Given the description of an element on the screen output the (x, y) to click on. 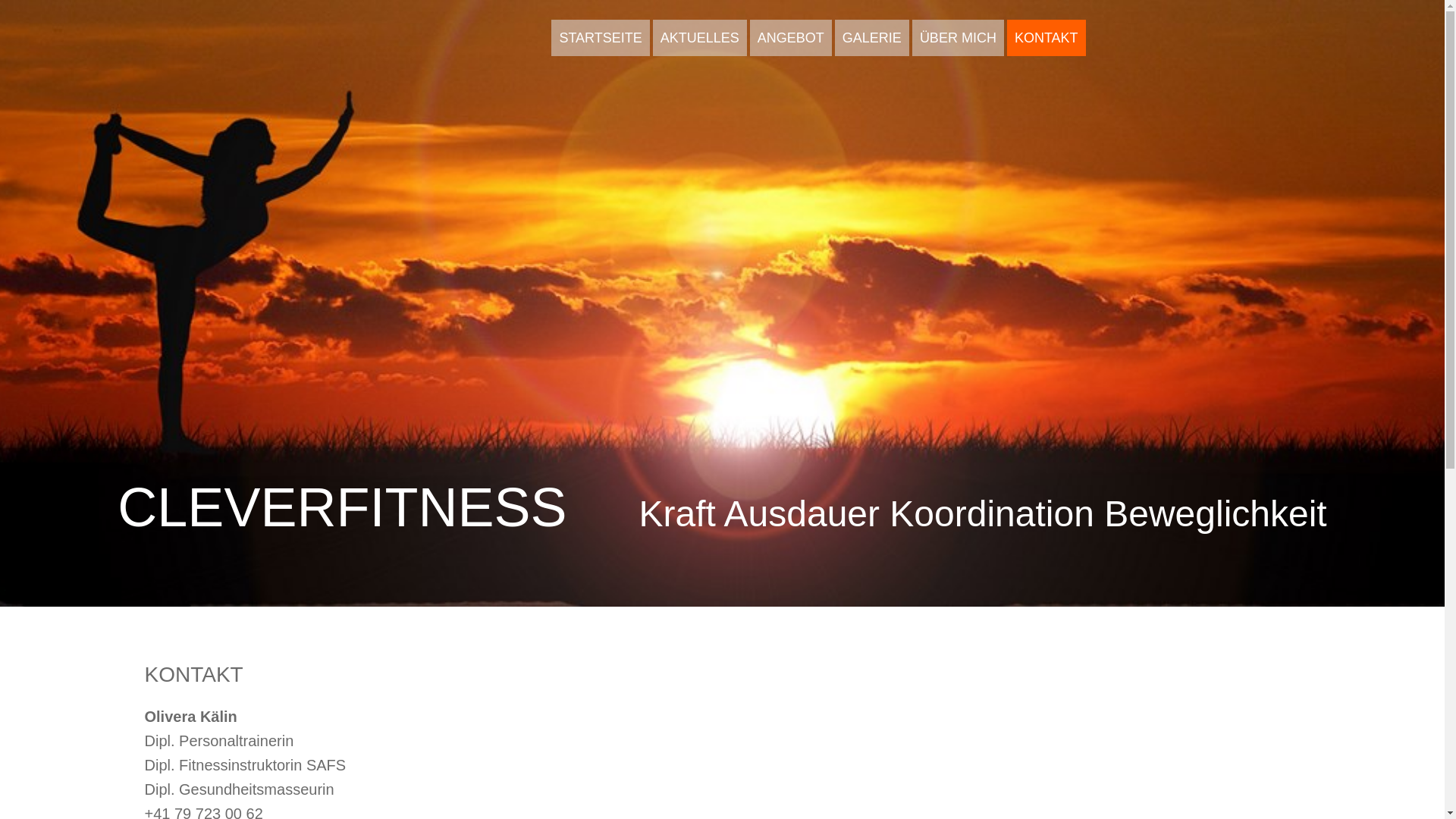
KONTAKT Element type: text (1046, 37)
  Element type: text (234, 36)
STARTSEITE Element type: text (599, 37)
ANGEBOT Element type: text (790, 37)
AKTUELLES Element type: text (699, 37)
GALERIE Element type: text (871, 37)
